Given the description of an element on the screen output the (x, y) to click on. 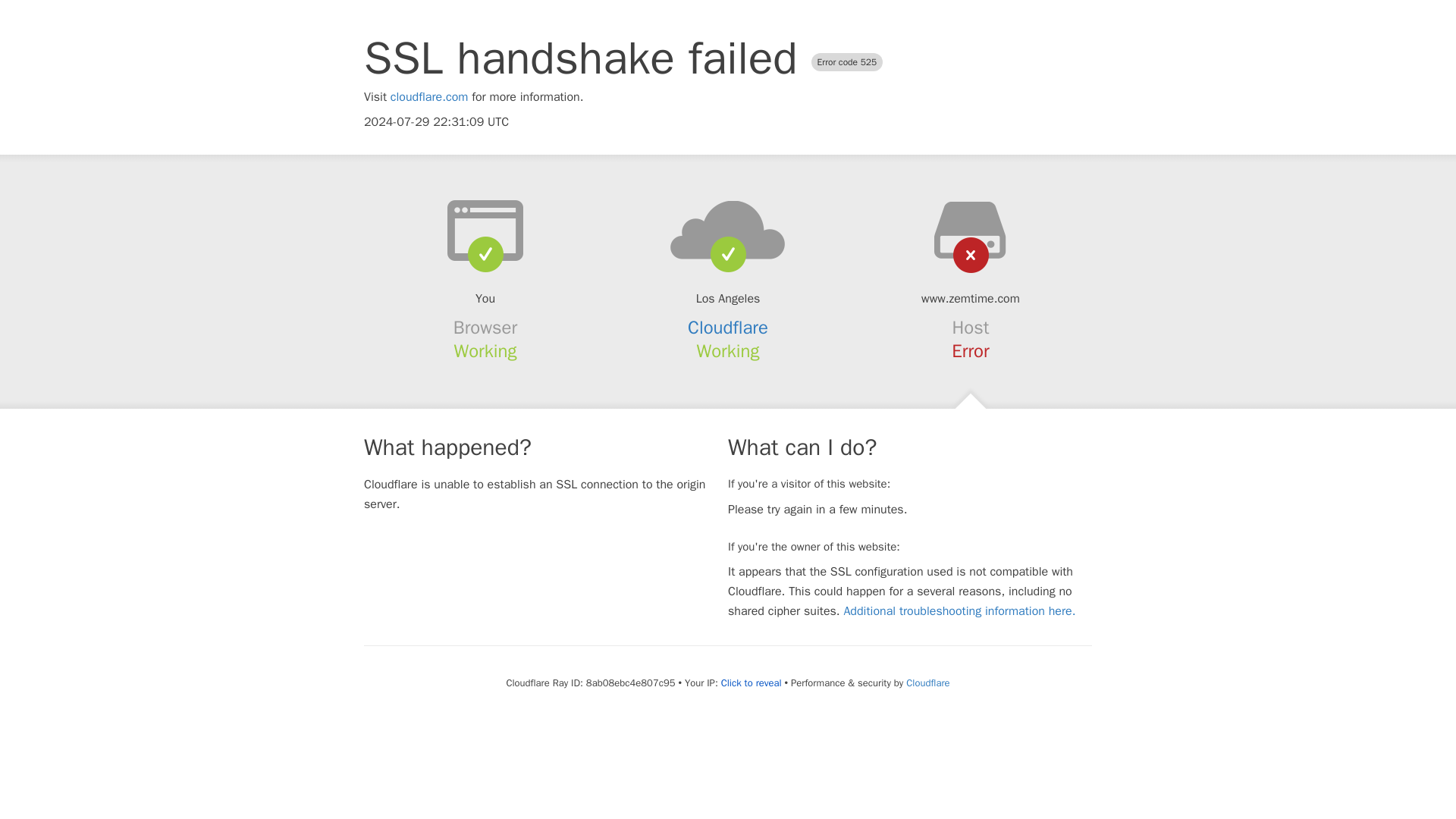
Cloudflare (927, 682)
Additional troubleshooting information here. (959, 611)
Cloudflare (727, 327)
Click to reveal (750, 683)
cloudflare.com (429, 96)
